Given the description of an element on the screen output the (x, y) to click on. 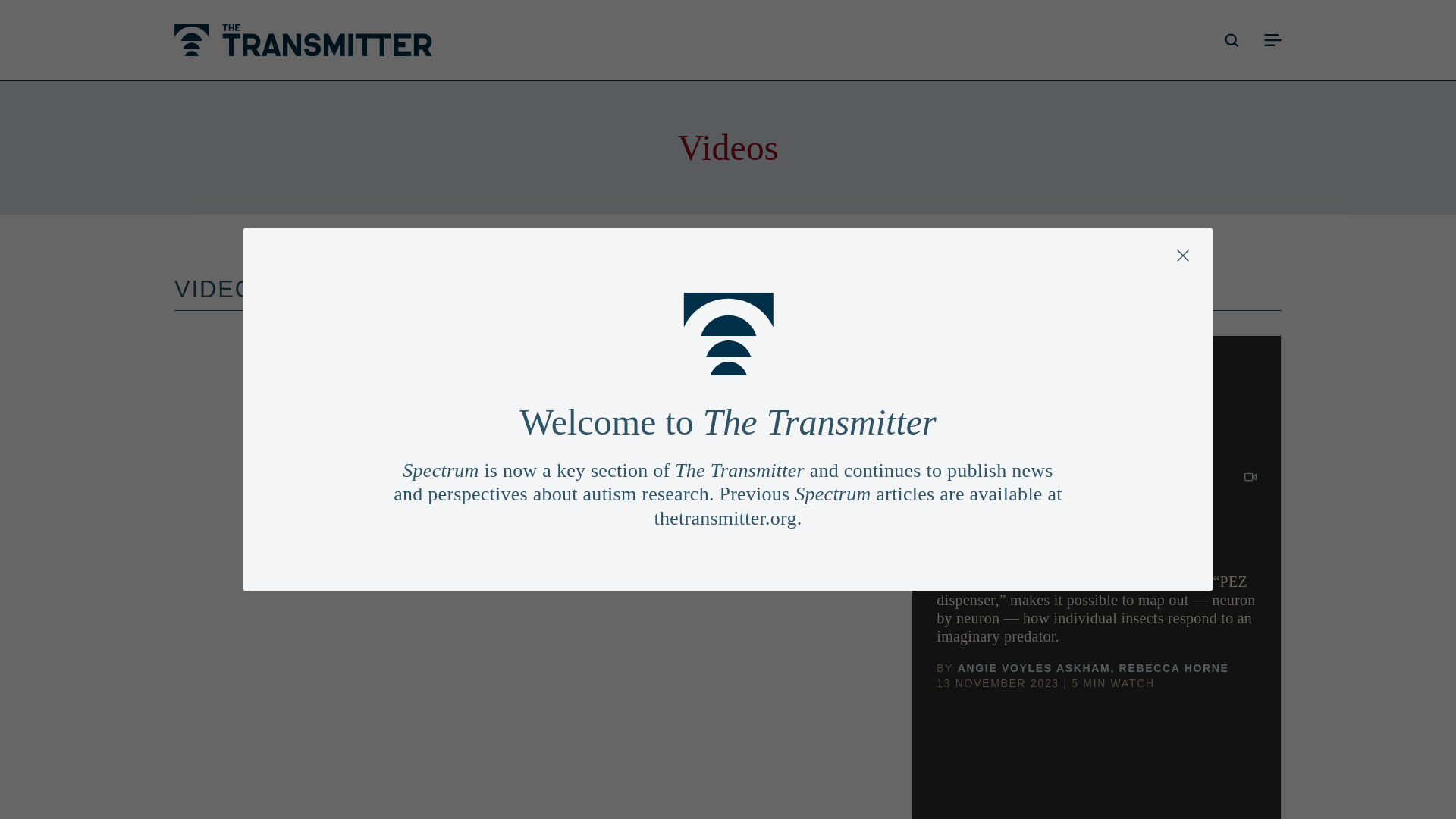
Open menu (1272, 40)
The Transmitter (303, 40)
Open search form (1231, 39)
